Given the description of an element on the screen output the (x, y) to click on. 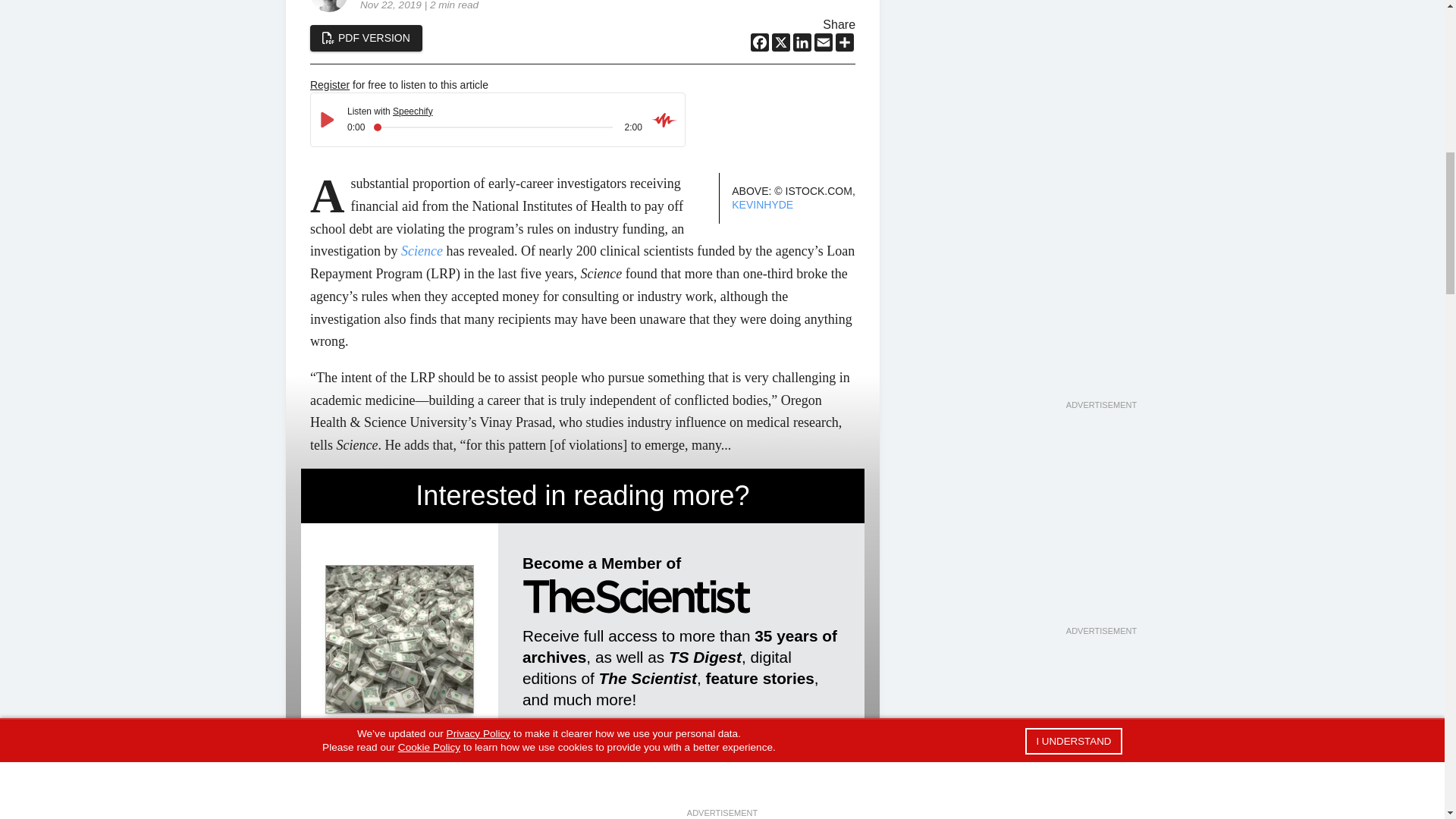
Catherine Offord (347, 791)
Catherine Offord (328, 6)
3rd party ad content (1100, 529)
3rd party ad content (1100, 739)
